Given the description of an element on the screen output the (x, y) to click on. 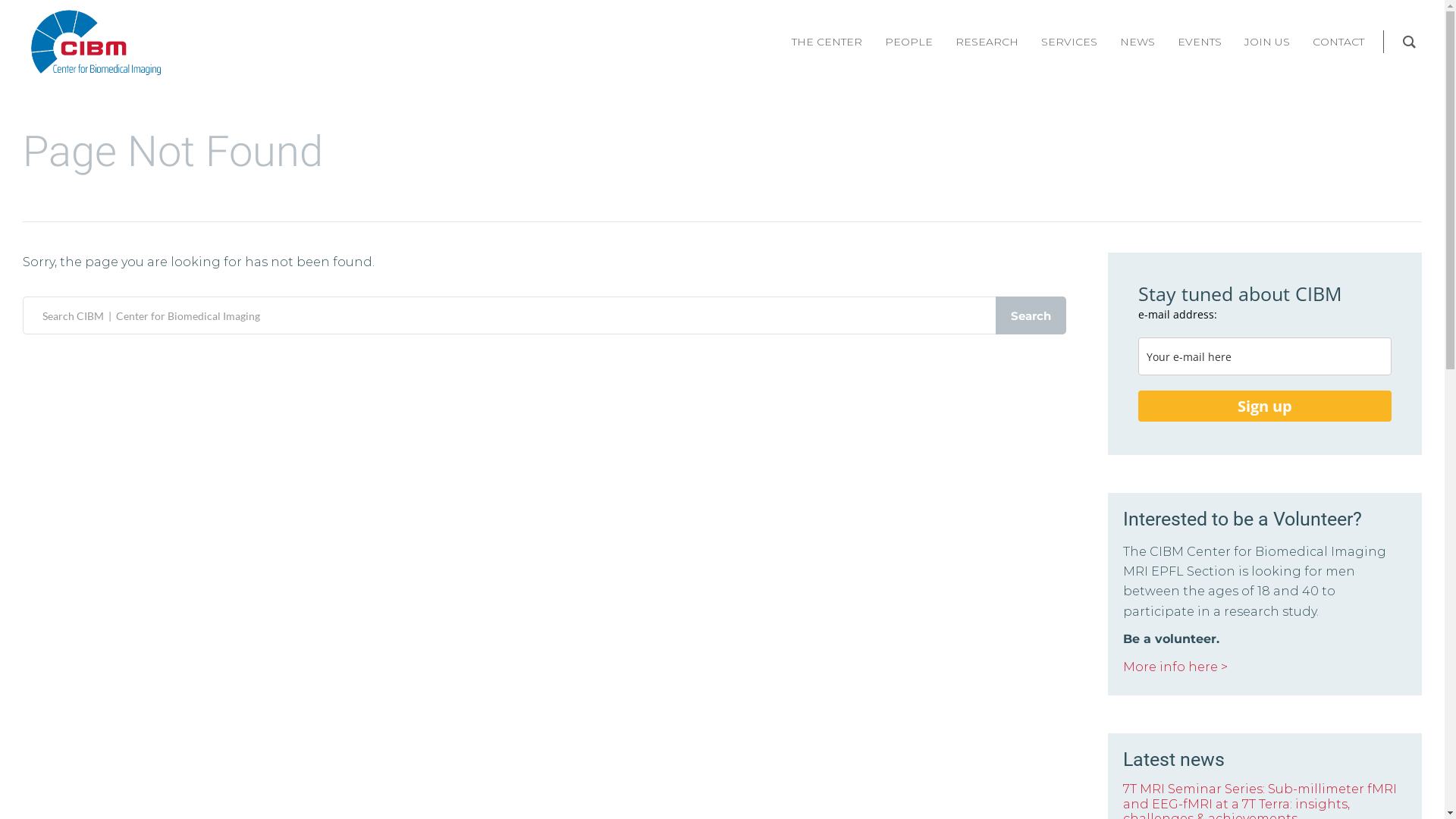
More info here > Element type: text (1175, 666)
RESEARCH Element type: text (986, 41)
THE CENTER Element type: text (826, 41)
CONTACT Element type: text (1338, 41)
JOIN US Element type: text (1267, 41)
SERVICES Element type: text (1068, 41)
Sign up Element type: text (1264, 405)
Search Element type: text (1030, 315)
NEWS Element type: text (1137, 41)
EVENTS Element type: text (1199, 41)
PEOPLE Element type: text (908, 41)
